Given the description of an element on the screen output the (x, y) to click on. 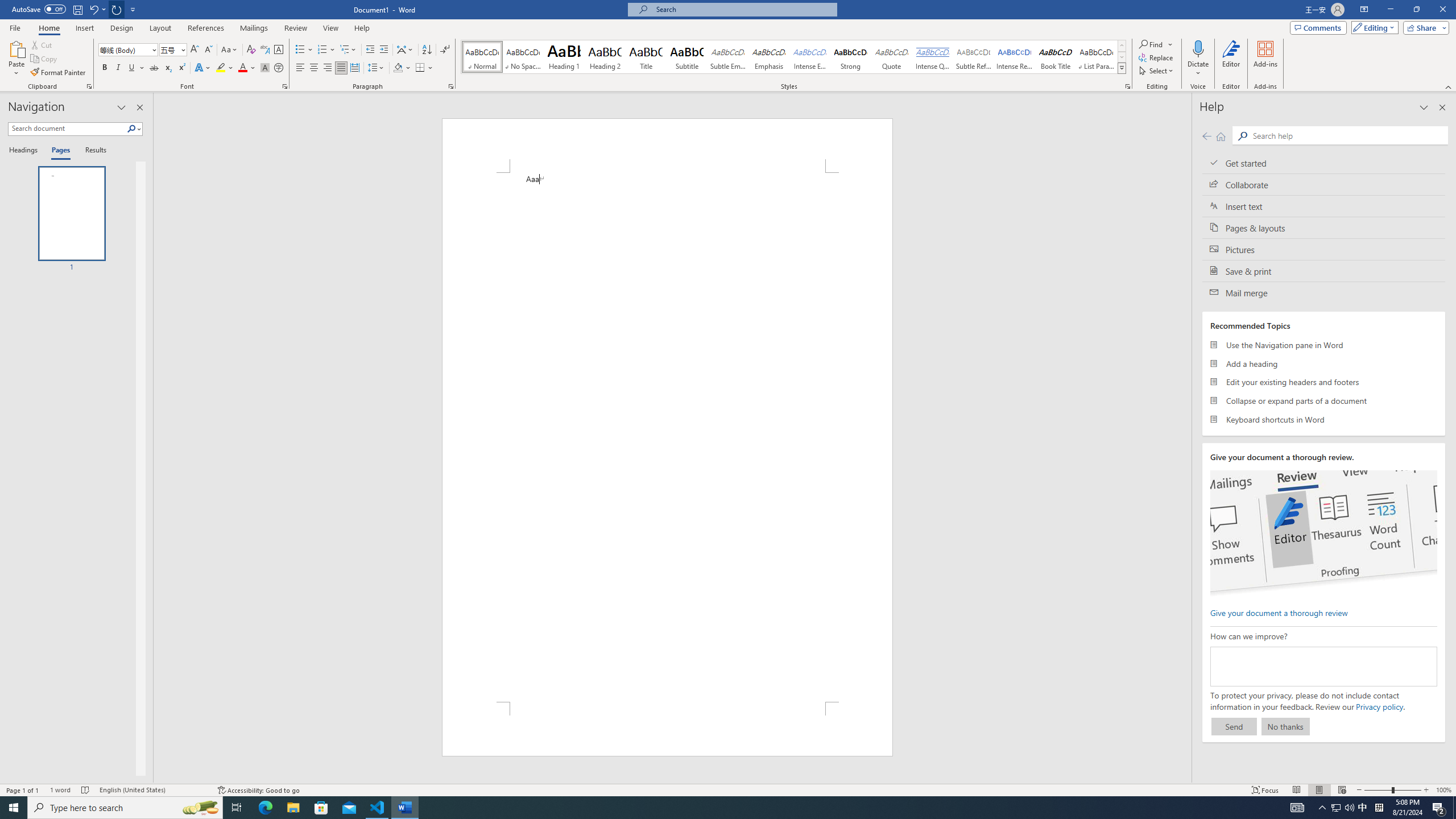
Mail merge (1323, 292)
